Given the description of an element on the screen output the (x, y) to click on. 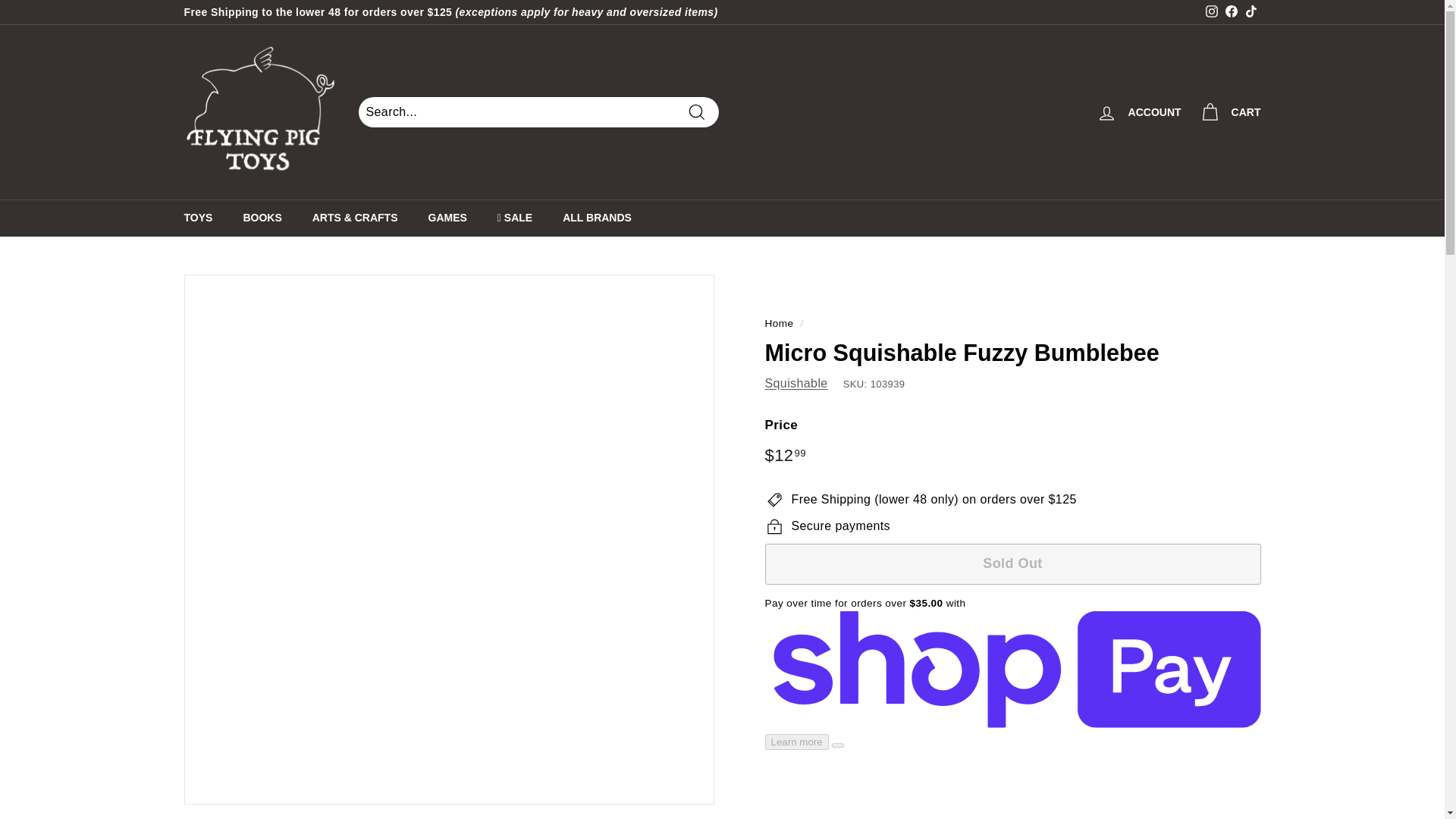
Back to the frontpage (778, 323)
TOYS (197, 217)
ACCOUNT (1139, 111)
